Given the description of an element on the screen output the (x, y) to click on. 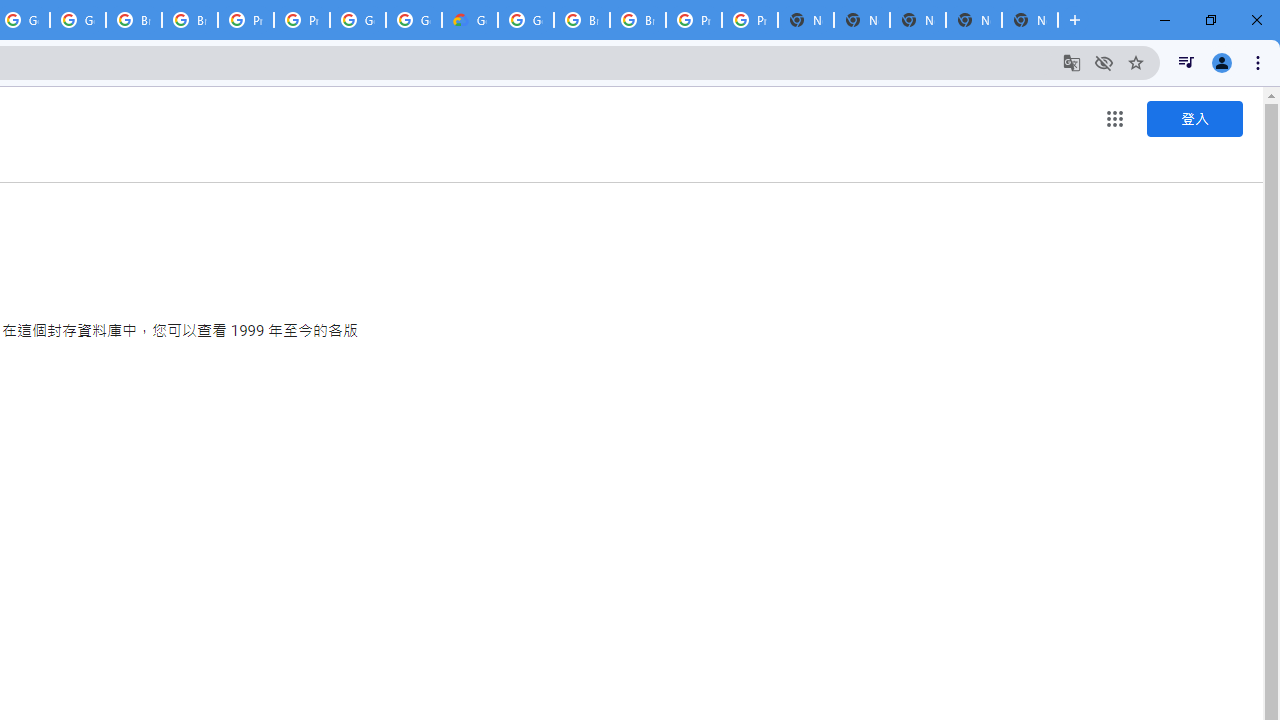
Google Cloud Estimate Summary (469, 20)
Google Cloud Platform (525, 20)
Translate this page (1071, 62)
